Given the description of an element on the screen output the (x, y) to click on. 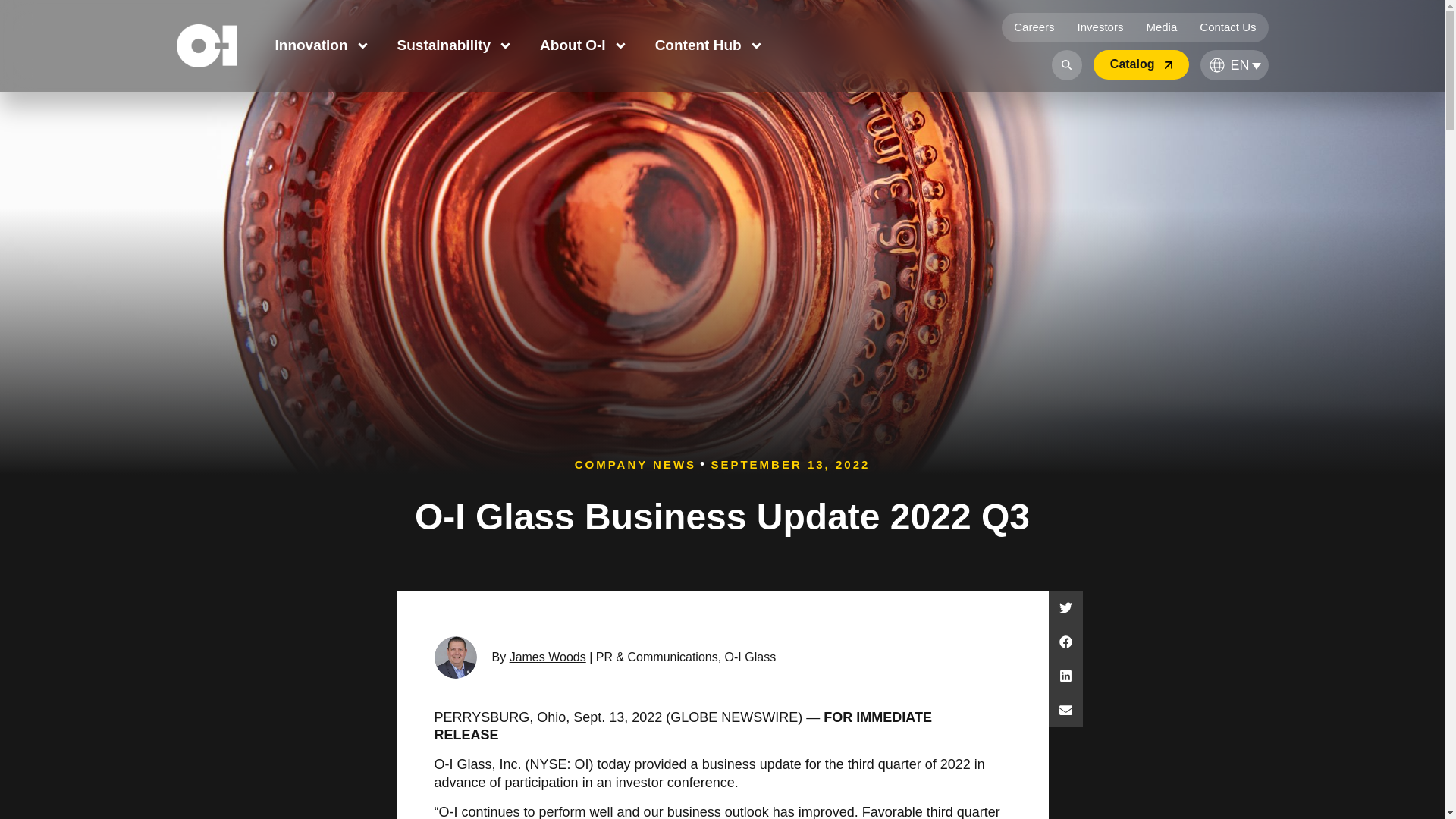
Sustainability (455, 45)
Innovation (322, 45)
Content Hub (708, 45)
About O-I (583, 45)
